Given the description of an element on the screen output the (x, y) to click on. 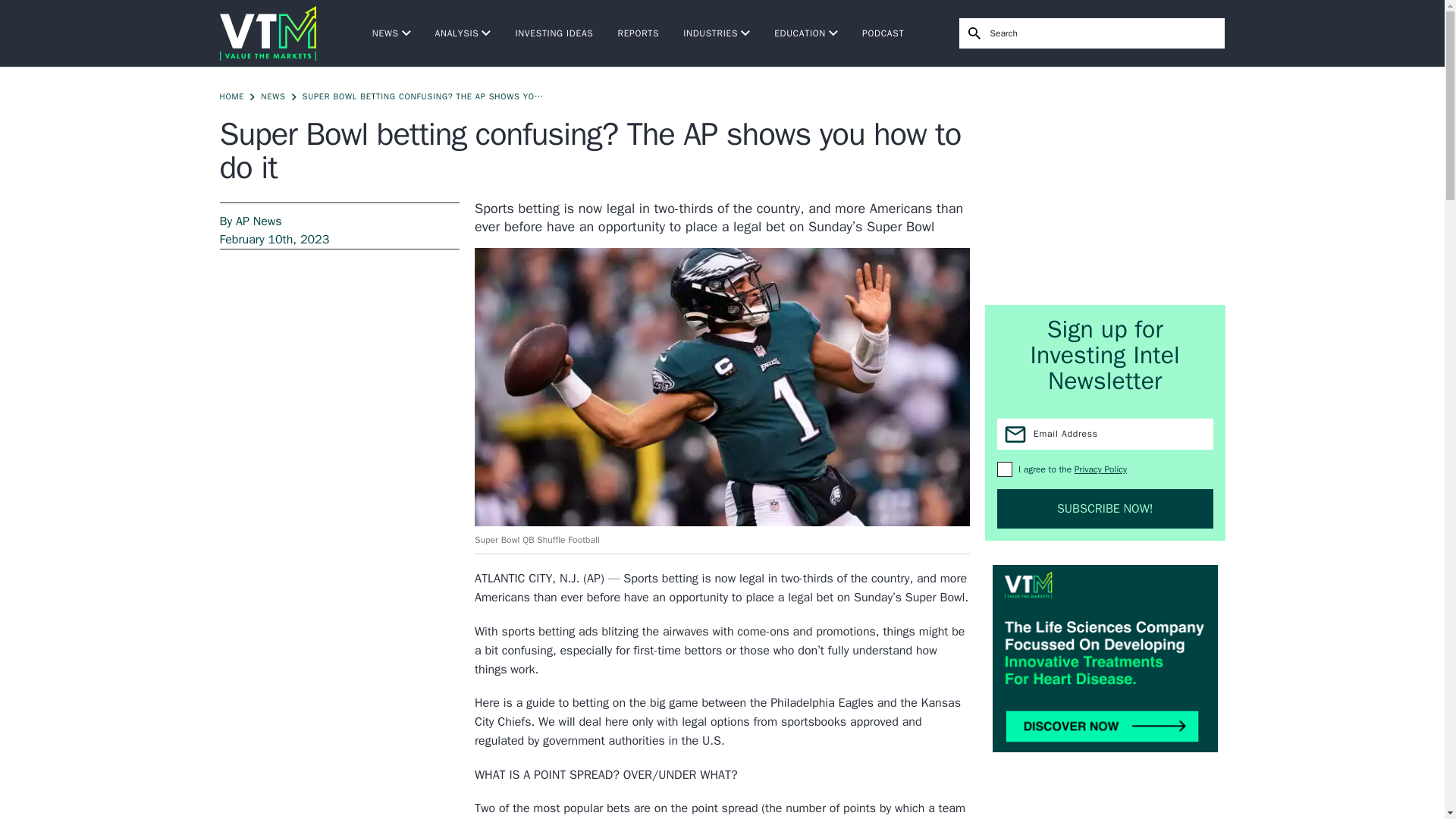
REPORTS (638, 33)
INVESTING IDEAS (553, 33)
Yes (1004, 468)
PODCAST (882, 33)
INDUSTRIES (715, 33)
Advertisement (1105, 185)
ANALYSIS (463, 33)
EDUCATION (806, 33)
NEWS (391, 33)
